Given the description of an element on the screen output the (x, y) to click on. 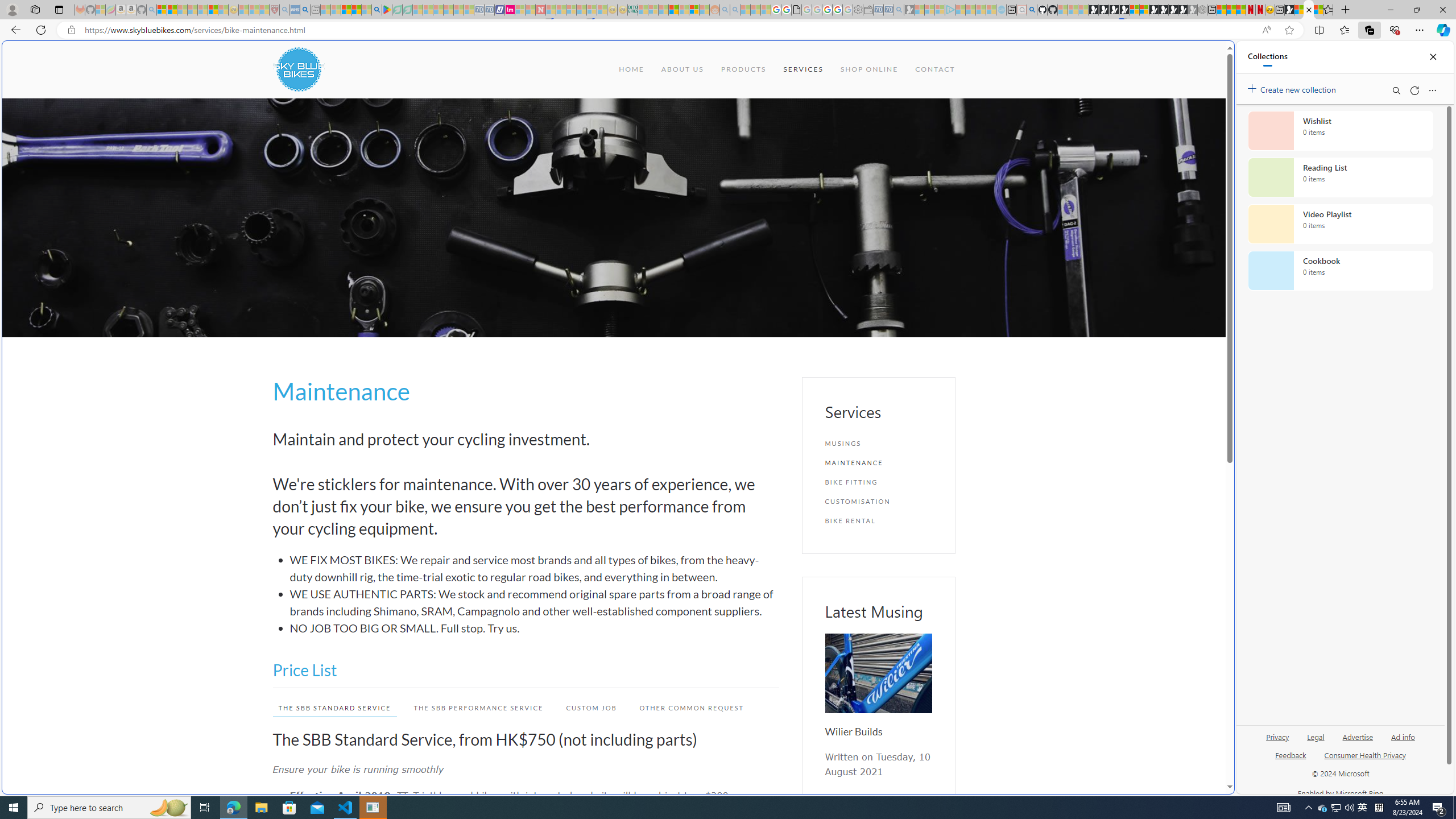
SERVICES (802, 68)
MAINTENANCE (878, 462)
Create new collection (1293, 87)
